Given the description of an element on the screen output the (x, y) to click on. 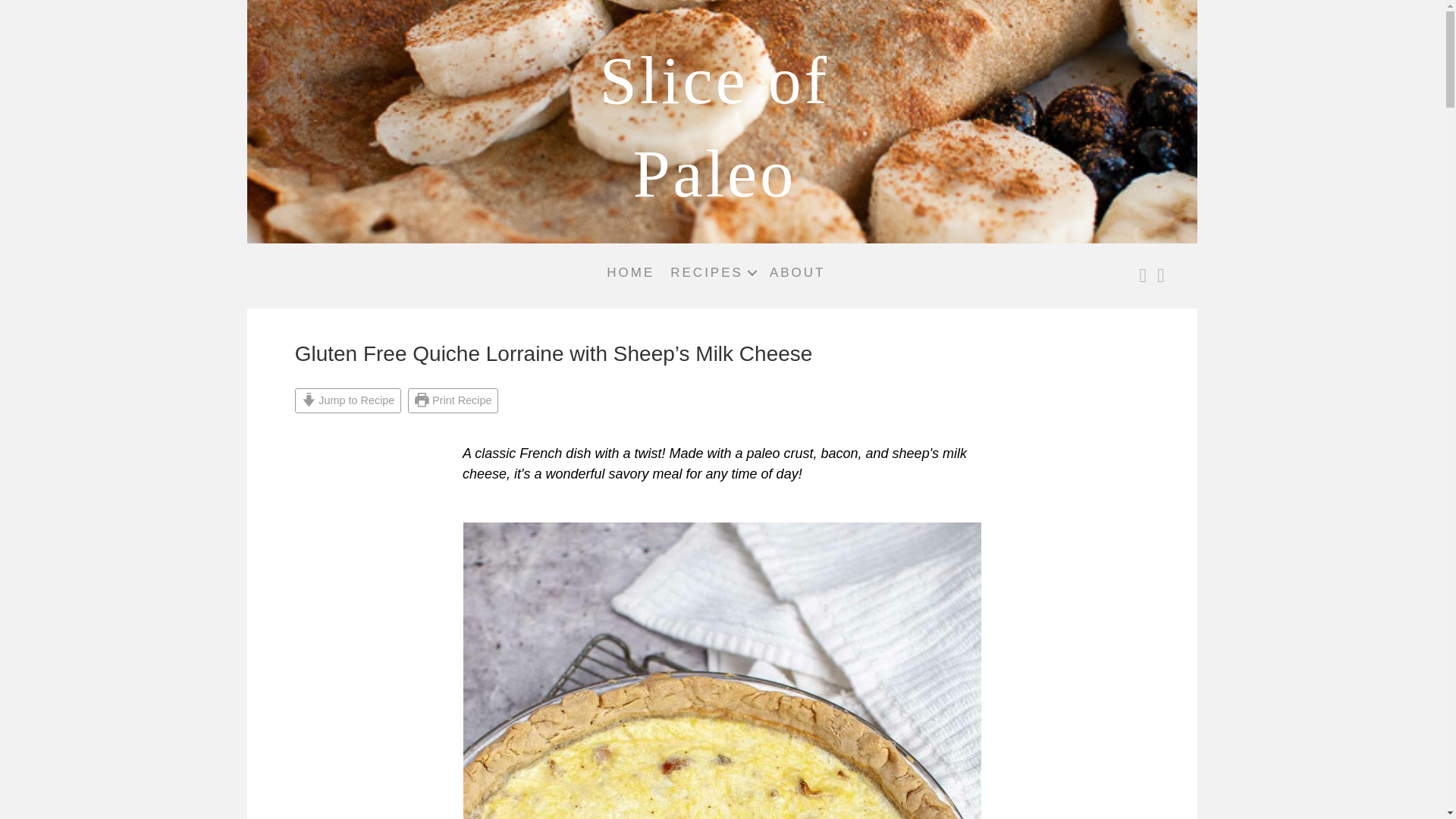
Jump to Recipe (348, 401)
Slice of Paleo (714, 127)
Slice of Paleo (714, 127)
ABOUT (796, 272)
Print Recipe (452, 401)
HOME (630, 272)
RECIPES (711, 272)
